Given the description of an element on the screen output the (x, y) to click on. 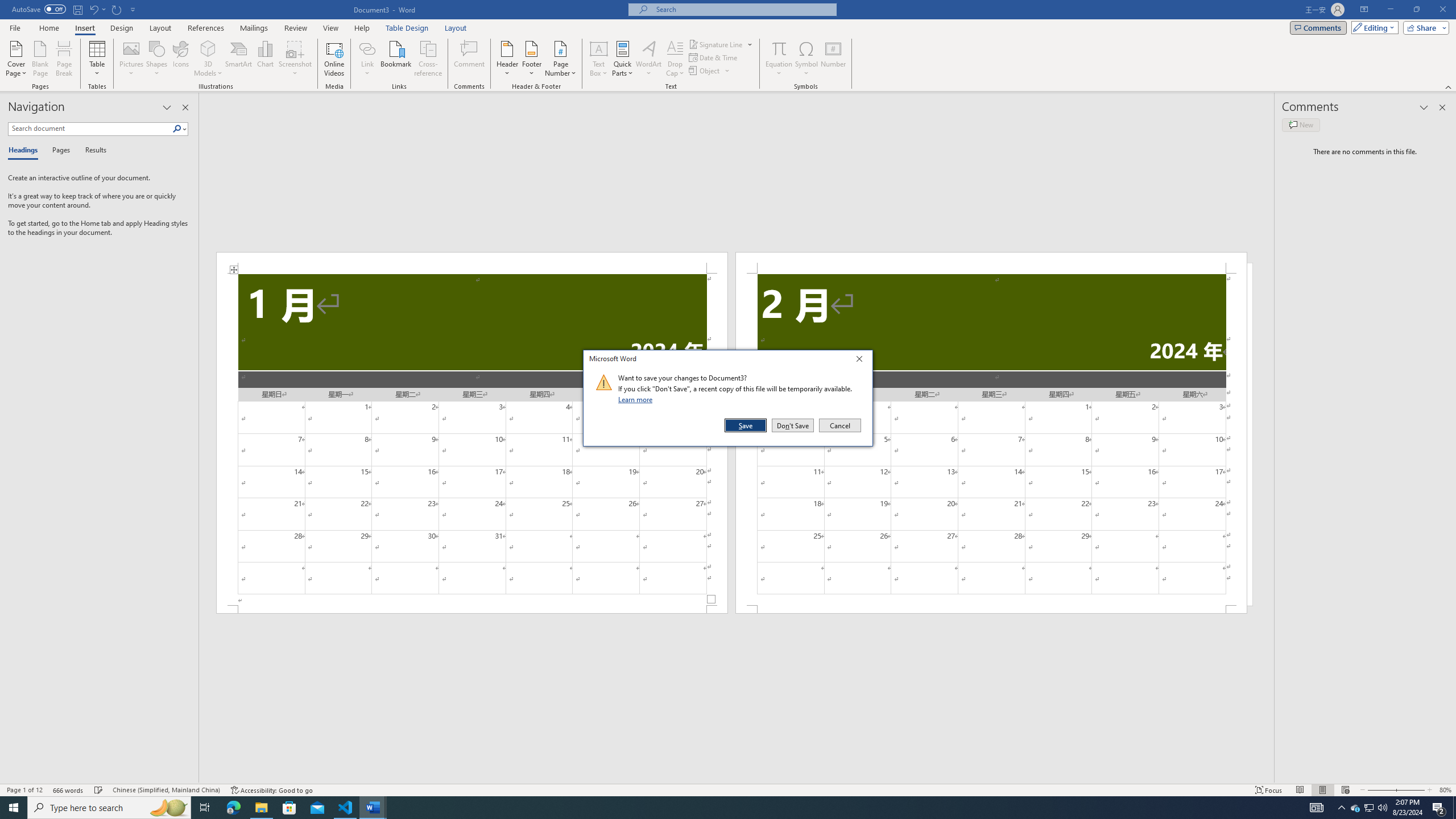
File Explorer - 1 running window (261, 807)
Footer -Section 1- (471, 609)
Page Number Page 1 of 12 (24, 790)
Icons (180, 58)
Language Chinese (Simplified, Mainland China) (165, 790)
Page Number (560, 58)
Spelling and Grammar Check Checking (98, 790)
Search document (89, 128)
Task View (1355, 807)
3D Models (204, 807)
Chart... (208, 58)
